Given the description of an element on the screen output the (x, y) to click on. 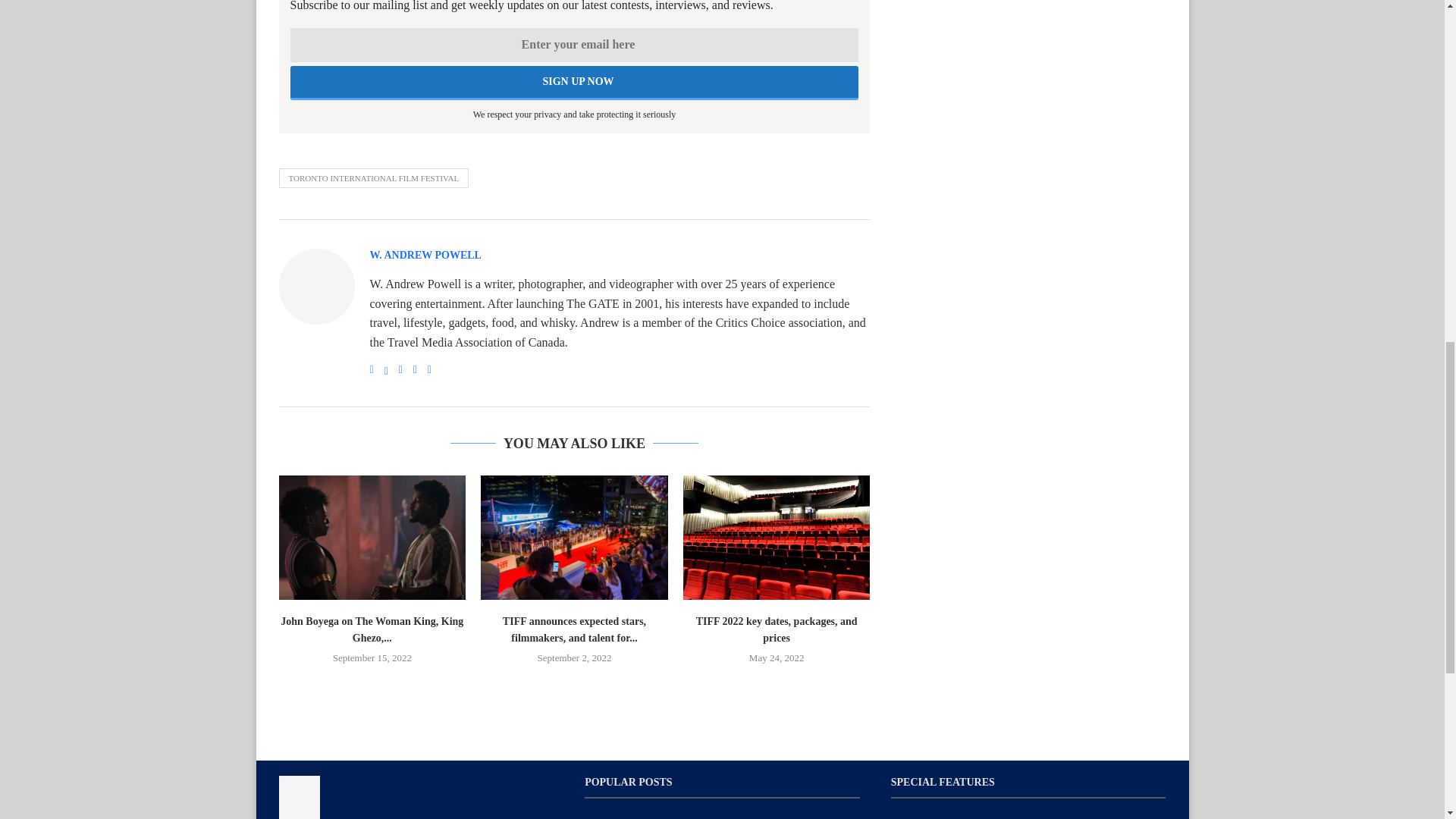
W. ANDREW POWELL (425, 255)
Sign Up Now (574, 82)
TIFF 2022 key dates, packages, and prices (776, 537)
Sign Up Now (574, 82)
TORONTO INTERNATIONAL FILM FESTIVAL (373, 178)
Author W. Andrew Powell (425, 255)
